Given the description of an element on the screen output the (x, y) to click on. 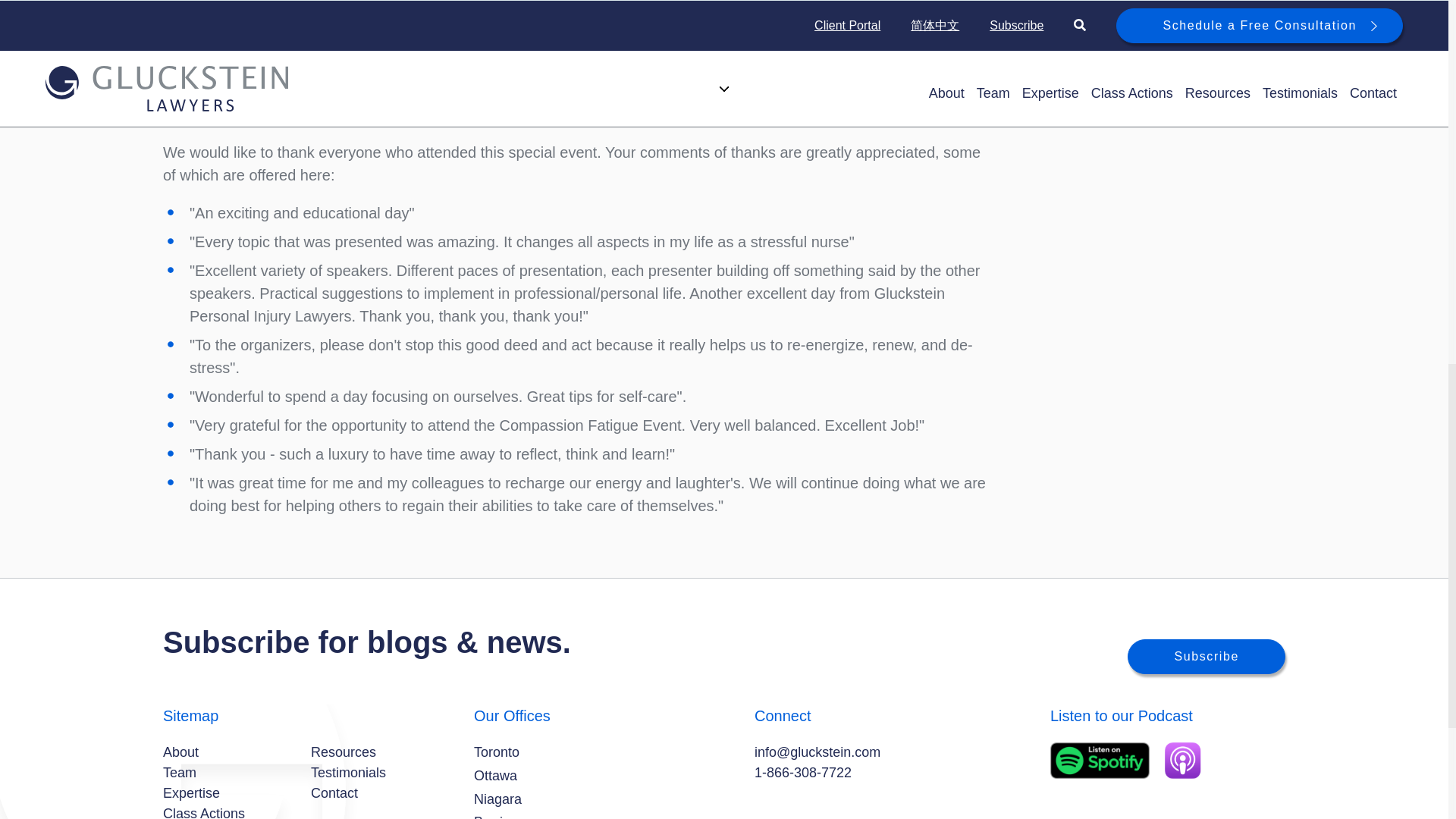
Email Gluckstein LLP now (817, 752)
Call Gluckstein LLP now (802, 772)
Niagara (497, 799)
Barrie (492, 815)
Ottawa (495, 775)
Toronto (496, 752)
